Given the description of an element on the screen output the (x, y) to click on. 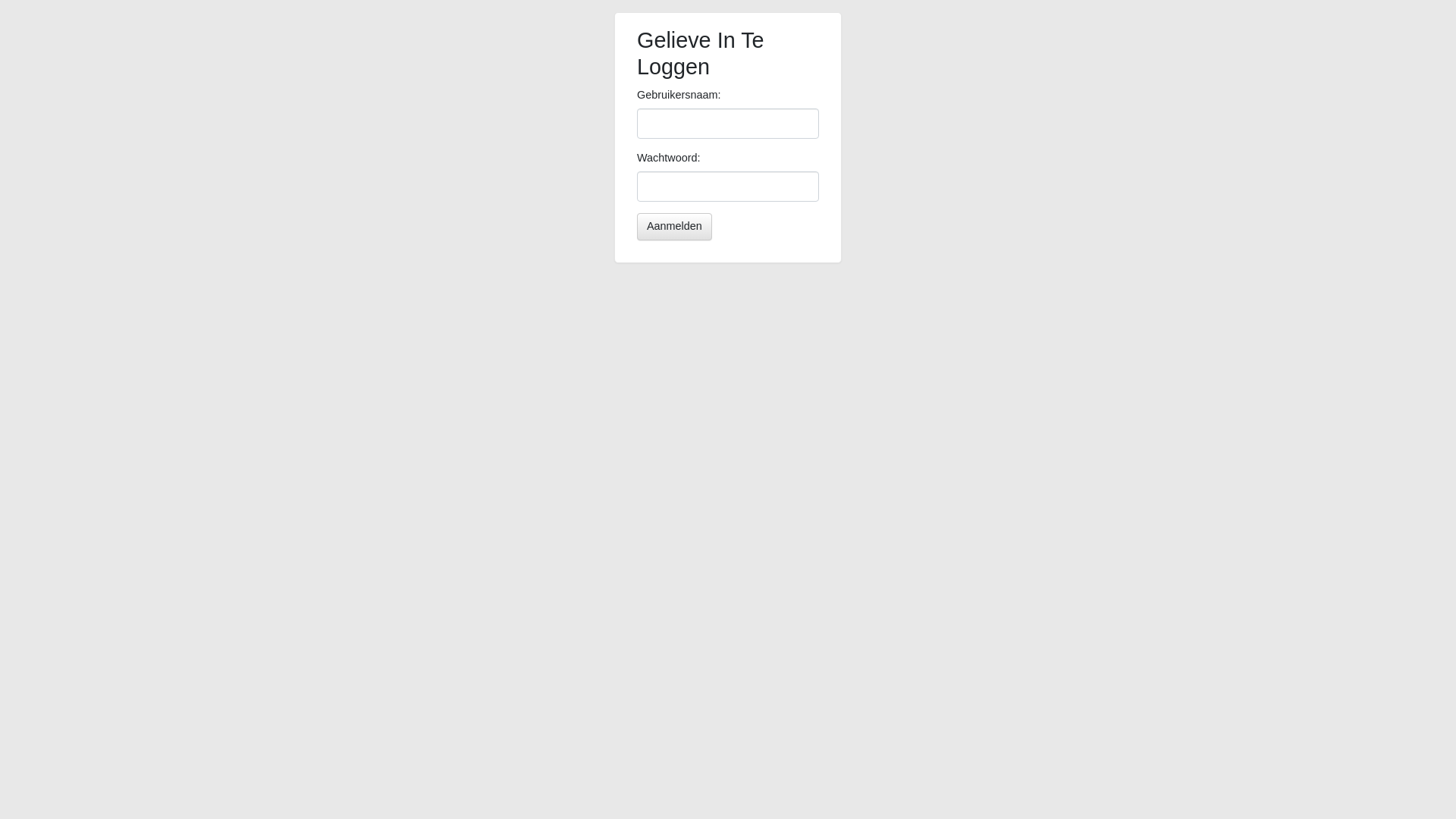
Aanmelden Element type: text (674, 226)
